Given the description of an element on the screen output the (x, y) to click on. 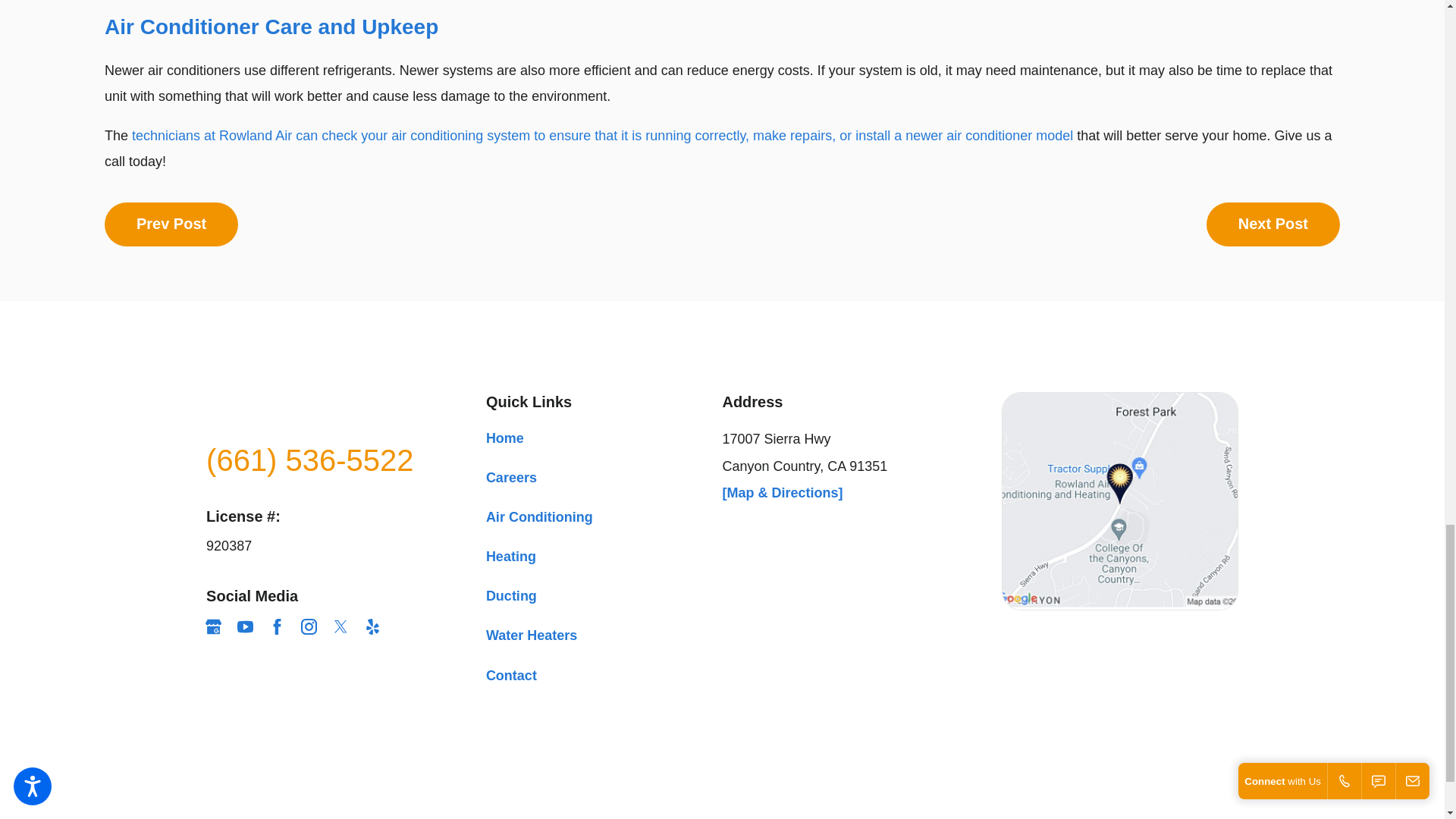
Google Business Profile (213, 626)
Instagram (309, 626)
Facebook (277, 626)
Twitter (341, 626)
Yelp (372, 626)
YouTube (245, 626)
